Given the description of an element on the screen output the (x, y) to click on. 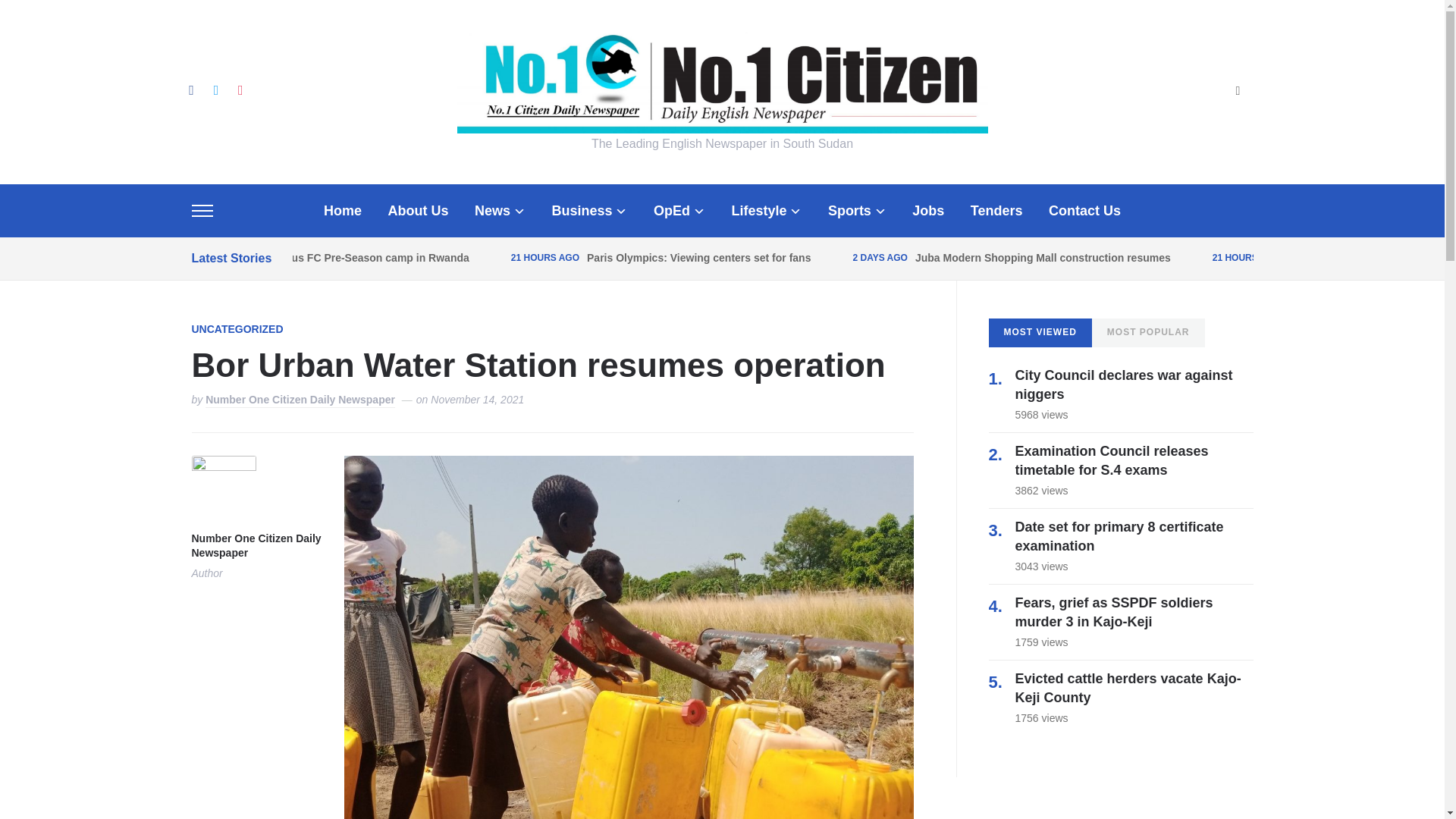
instagram (239, 88)
Search (1237, 91)
twitter (216, 88)
Paris Olympics: Viewing centers set for fans (698, 257)
facebook (190, 88)
Follow Me (216, 88)
Posts by Number One Citizen Daily Newspaper (299, 400)
Posts by Number One Citizen Daily Newspaper (255, 546)
New faces boost Jamus FC Pre-Season camp in Rwanda (325, 257)
Friend me on Facebook (190, 88)
Juba Modern Shopping Mall construction resumes (1042, 257)
